Given the description of an element on the screen output the (x, y) to click on. 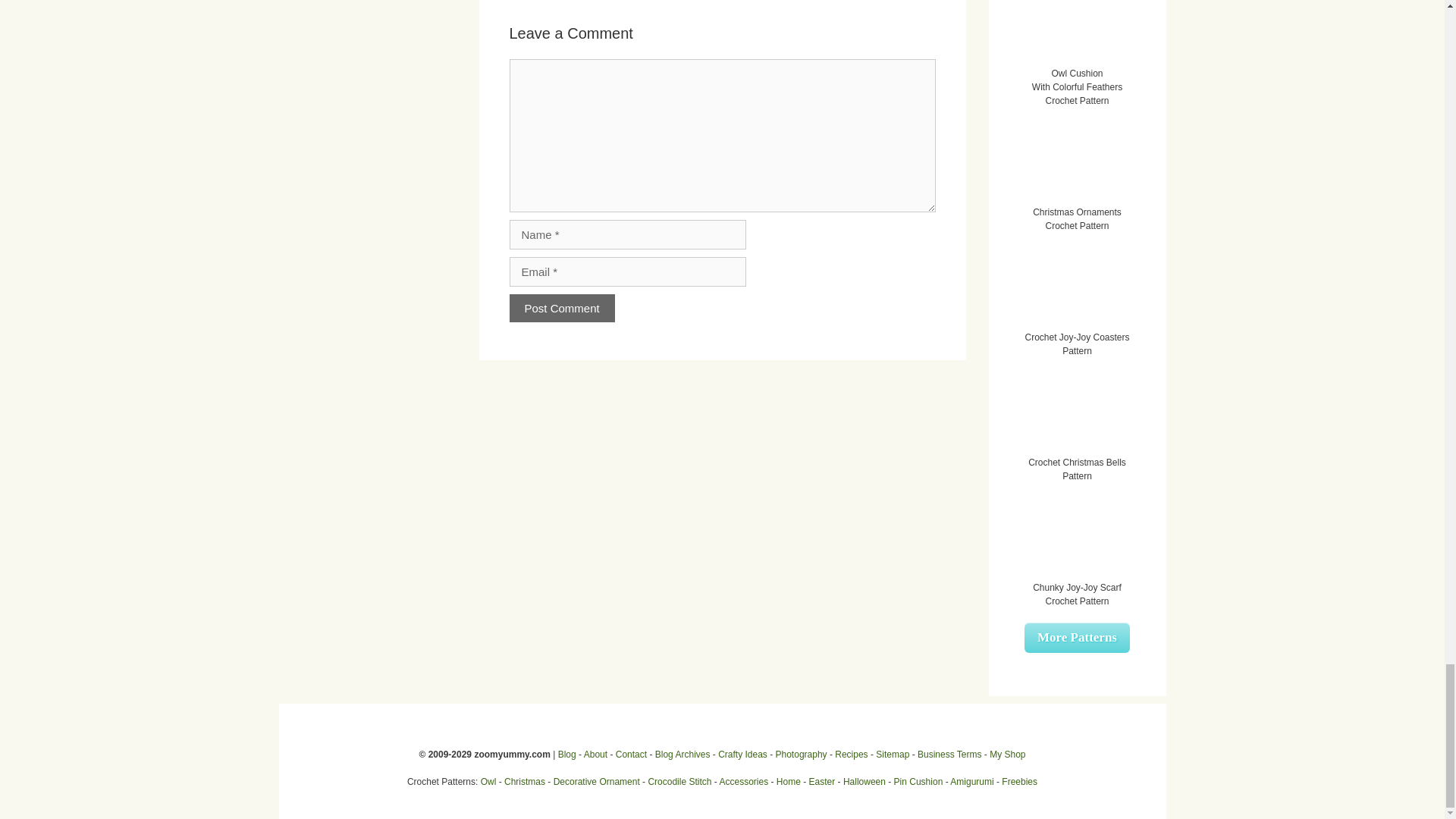
Post Comment (561, 308)
